Given the description of an element on the screen output the (x, y) to click on. 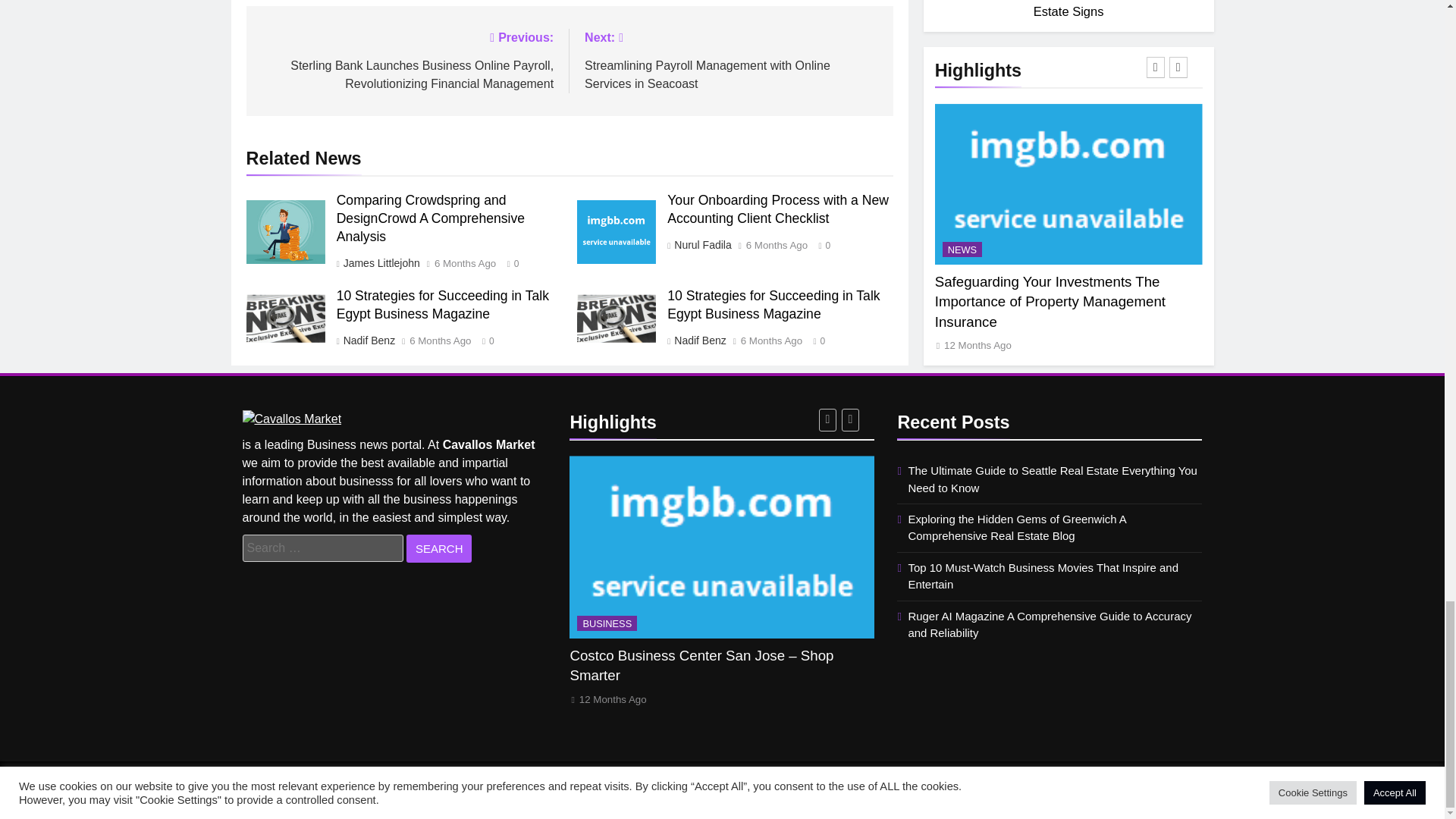
10 Strategies for Succeeding in Talk Egypt Business Magazine (616, 318)
Search (438, 548)
10 Strategies for Succeeding in Talk Egypt Business Magazine (285, 318)
Search (438, 548)
